Given the description of an element on the screen output the (x, y) to click on. 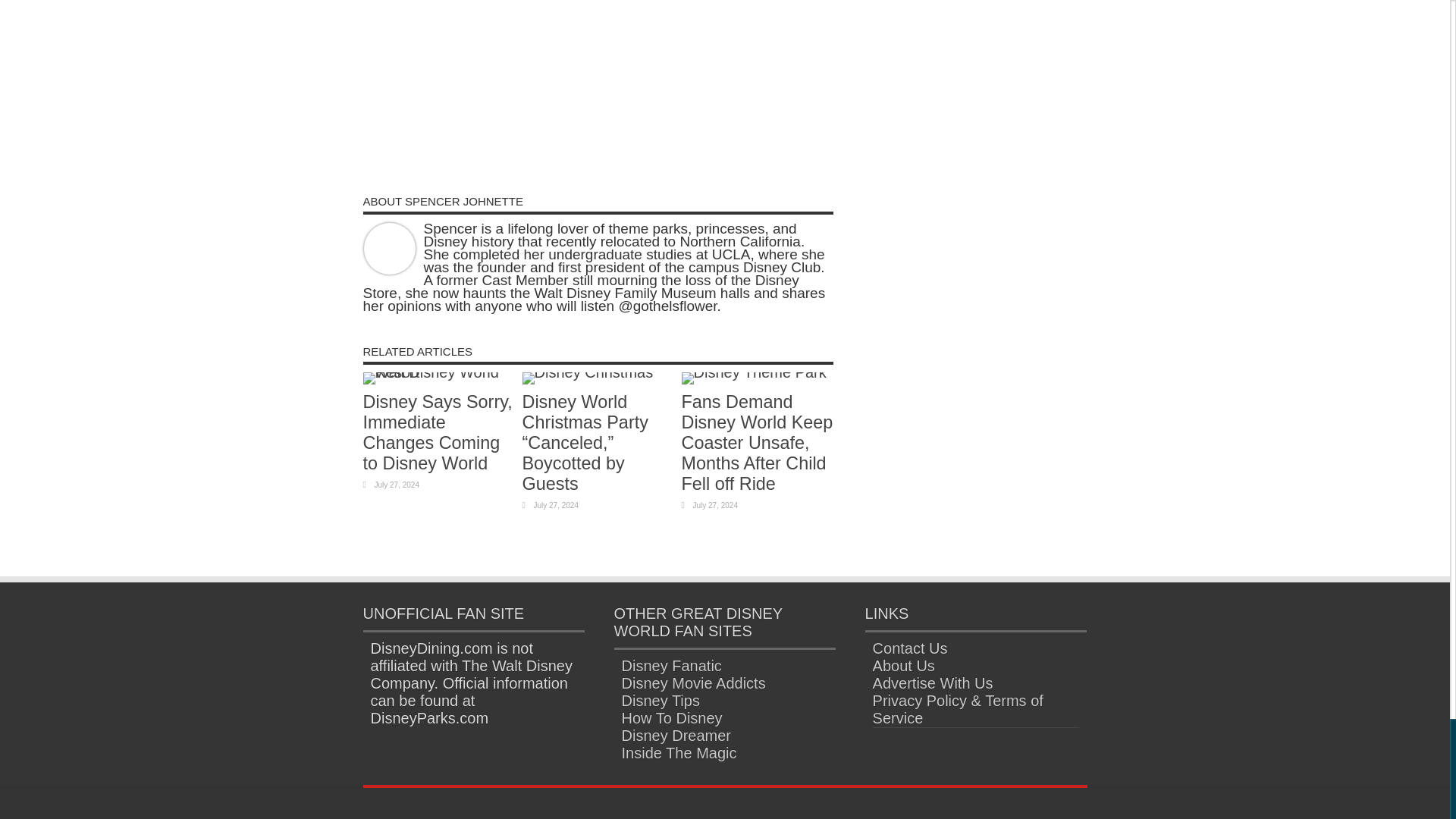
Disney Says Sorry, Immediate Changes Coming to Disney World (437, 432)
